Given the description of an element on the screen output the (x, y) to click on. 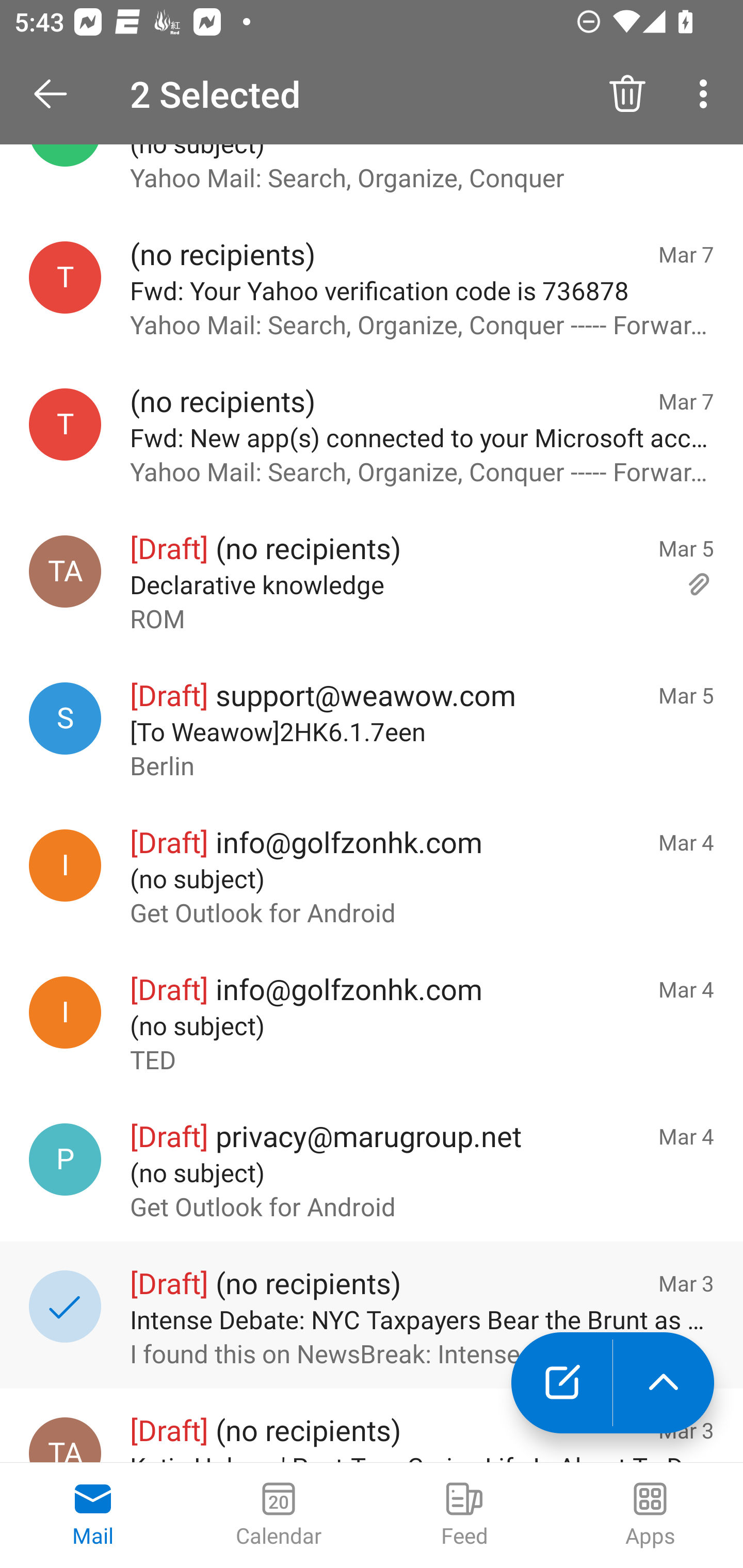
Delete (626, 93)
More options (706, 93)
Open Navigation Drawer (57, 94)
testappium002@outlook.com (64, 277)
testappium002@outlook.com (64, 424)
Test Appium, testappium002@outlook.com (64, 571)
support@weawow.com (64, 718)
info@golfzonhk.com (64, 865)
info@golfzonhk.com (64, 1012)
privacy@marugroup.net (64, 1158)
New mail (561, 1382)
launch the extended action menu (663, 1382)
Calendar (278, 1515)
Feed (464, 1515)
Apps (650, 1515)
